Given the description of an element on the screen output the (x, y) to click on. 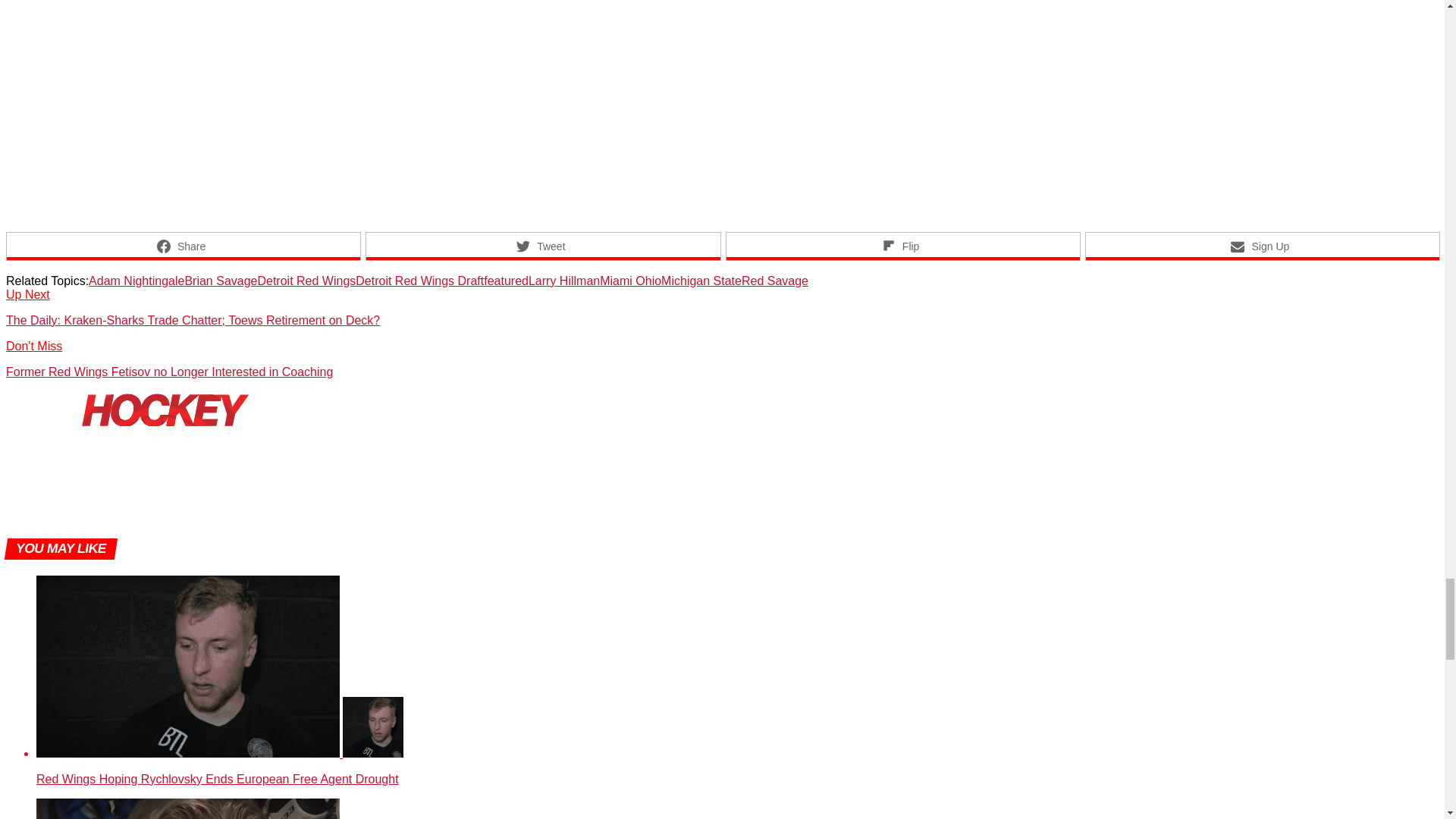
Share on Tweet (542, 246)
Share on Share (183, 246)
Share on Flip (902, 246)
